Given the description of an element on the screen output the (x, y) to click on. 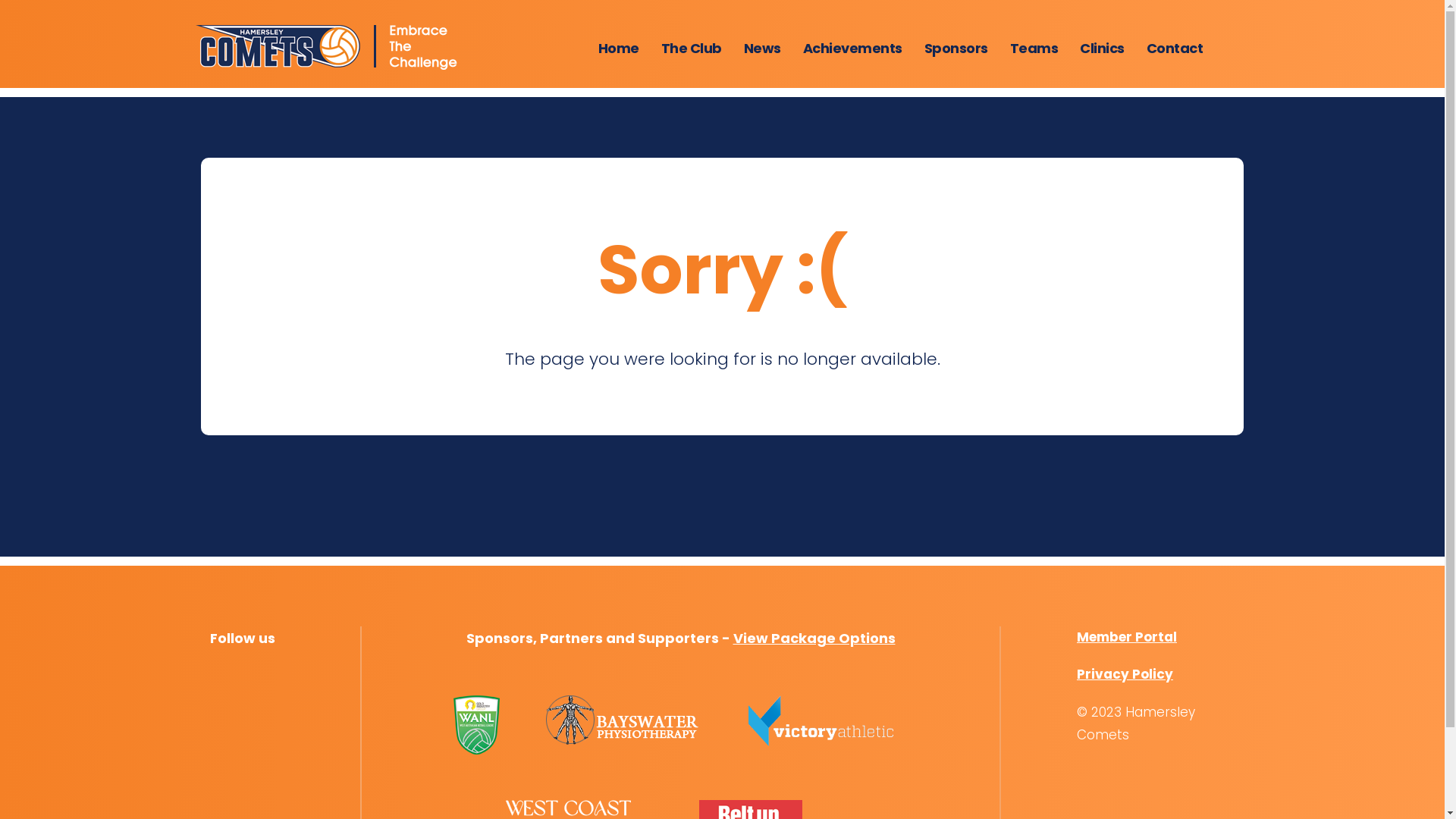
Achievements Element type: text (851, 47)
Member Portal Element type: text (1126, 636)
News Element type: text (761, 47)
Teams Element type: text (1034, 47)
Privacy Policy Element type: text (1124, 674)
Clinics Element type: text (1101, 47)
View Package Options Element type: text (813, 636)
Contact Element type: text (1174, 47)
The Club Element type: text (691, 47)
Home Element type: text (617, 47)
Sponsors Element type: text (955, 47)
